Given the description of an element on the screen output the (x, y) to click on. 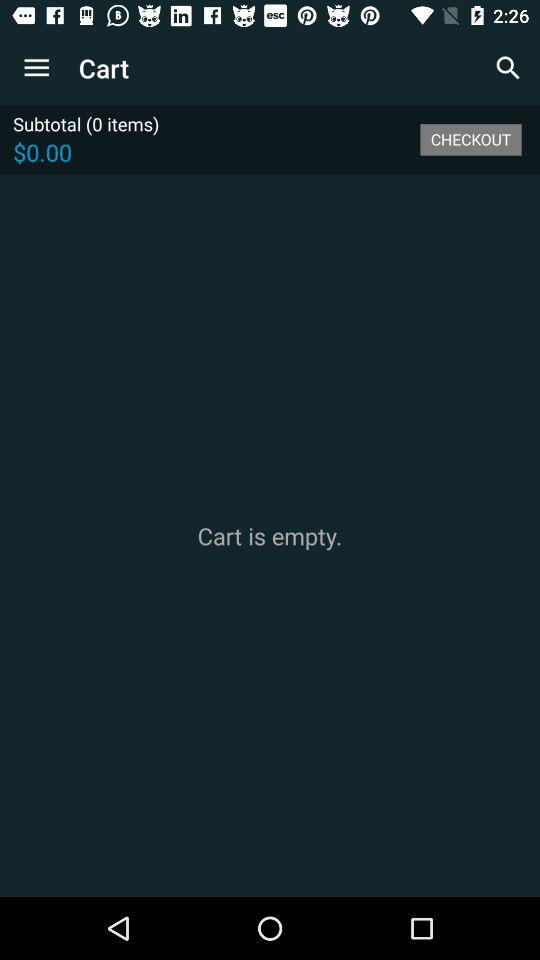
turn on the icon above the checkout (508, 67)
